Given the description of an element on the screen output the (x, y) to click on. 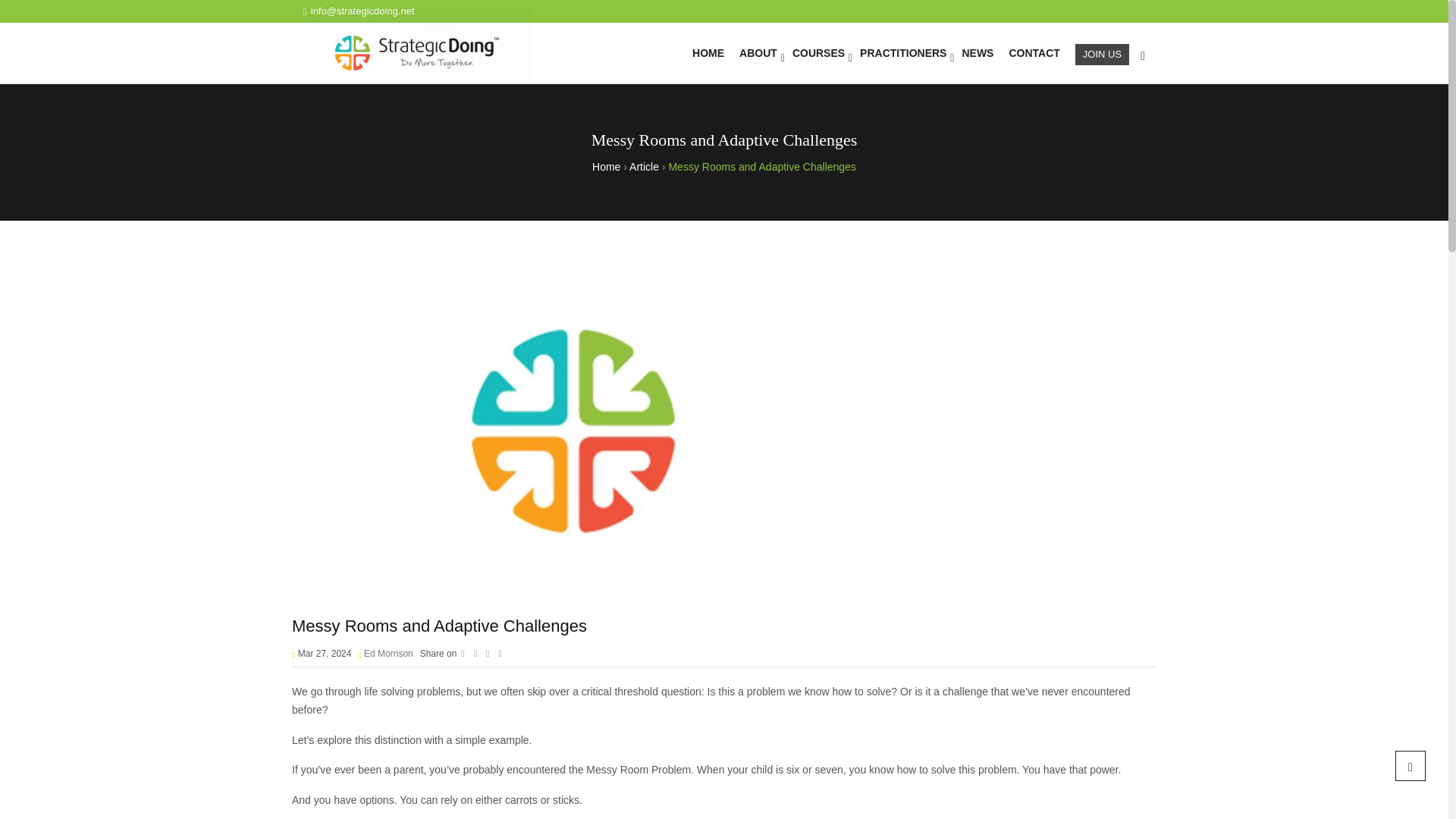
CONTACT (1034, 52)
COURSES (817, 52)
HOME (708, 52)
Strategic Doing Institute (416, 53)
NEWS (977, 52)
PRACTITIONERS (902, 52)
ABOUT (758, 52)
